Given the description of an element on the screen output the (x, y) to click on. 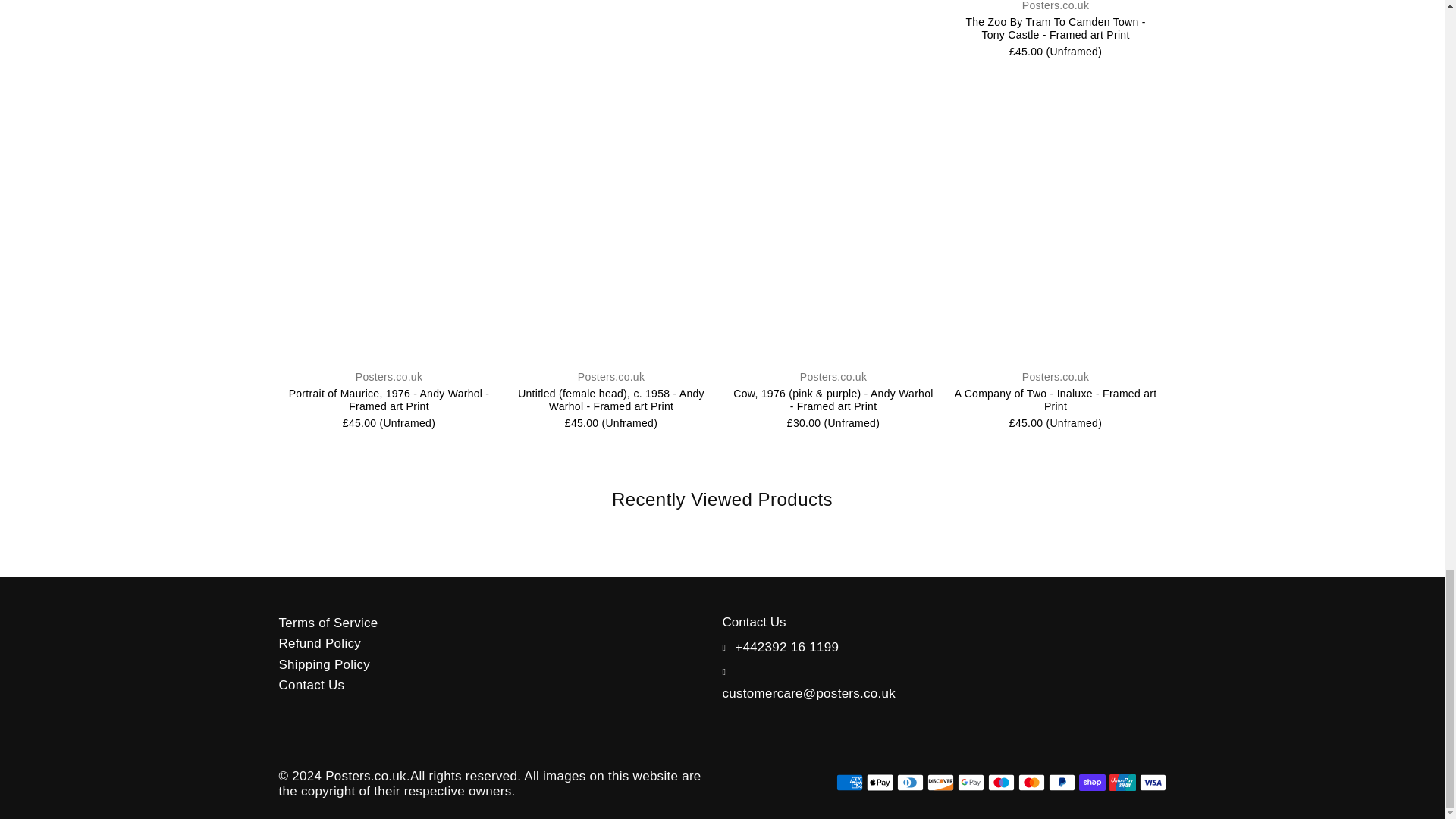
American Express (848, 782)
Mastercard (1030, 782)
Union Pay (1121, 782)
Maestro (1000, 782)
Visa (1152, 782)
Apple Pay (879, 782)
Google Pay (970, 782)
Diners Club (909, 782)
Discover (939, 782)
PayPal (1061, 782)
Shop Pay (1091, 782)
